Given the description of an element on the screen output the (x, y) to click on. 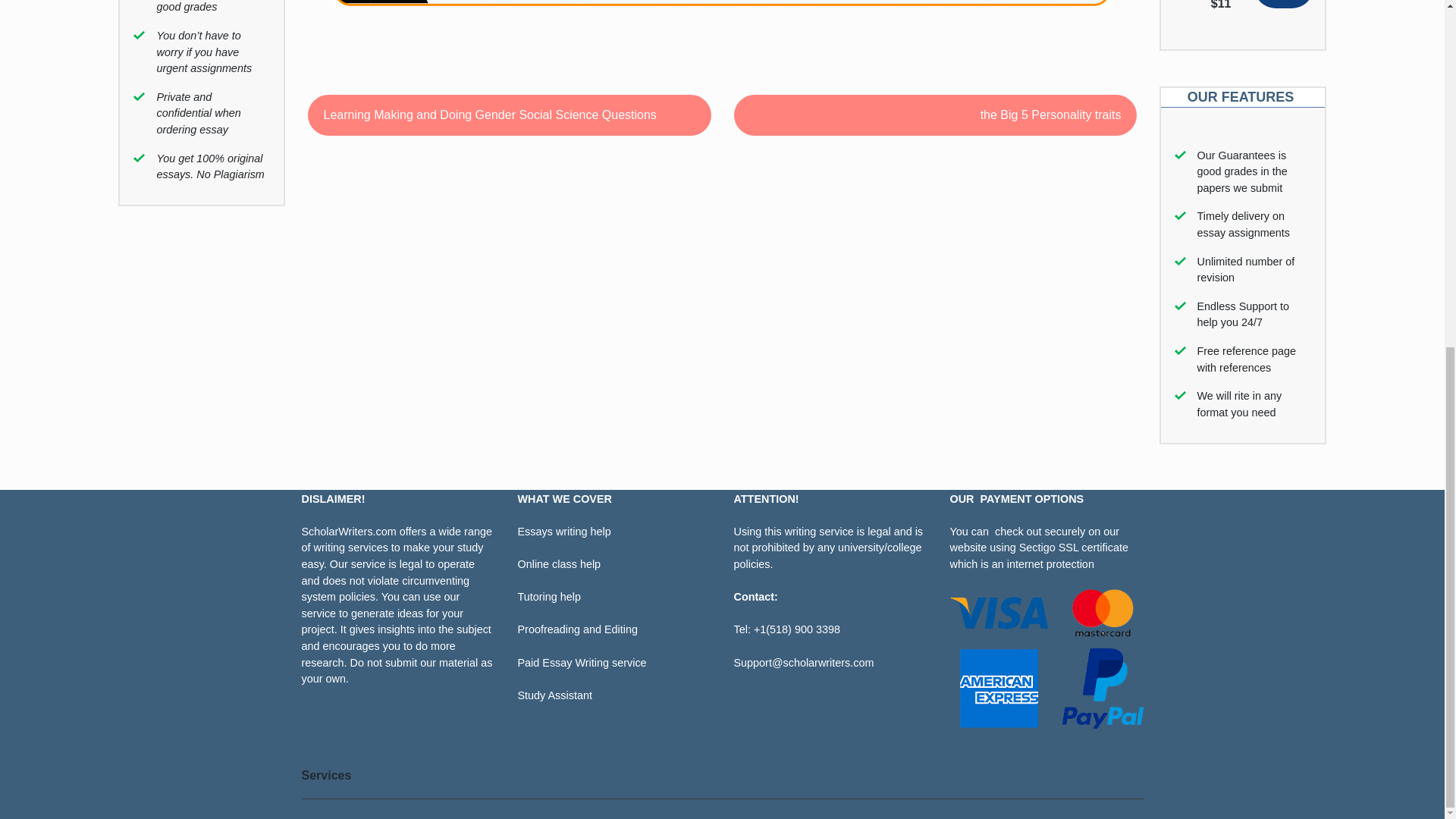
Learning Making and Doing Gender Social Science Questions (508, 115)
Continue (1283, 4)
the Big 5 Personality traits (935, 115)
PAYMENT (1004, 499)
